Given the description of an element on the screen output the (x, y) to click on. 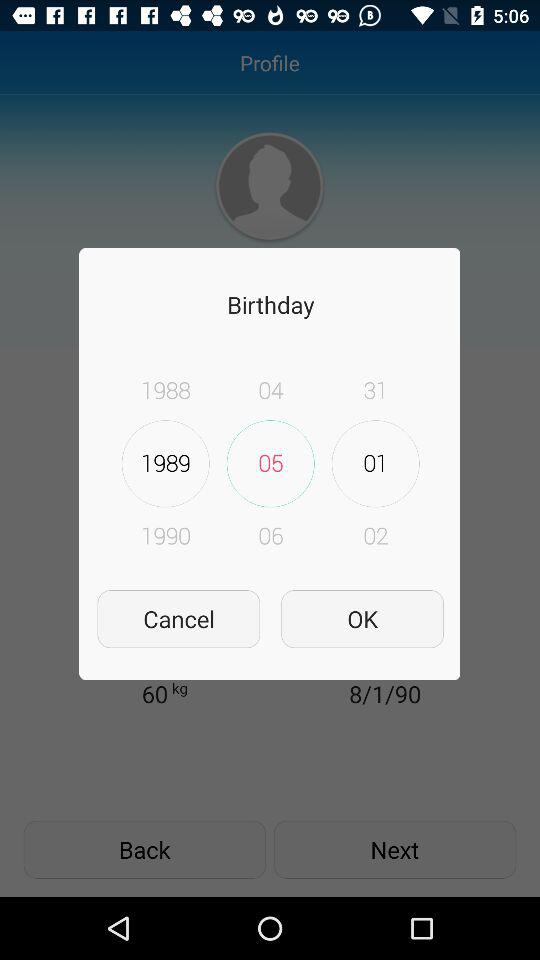
select cancel item (178, 618)
